Given the description of an element on the screen output the (x, y) to click on. 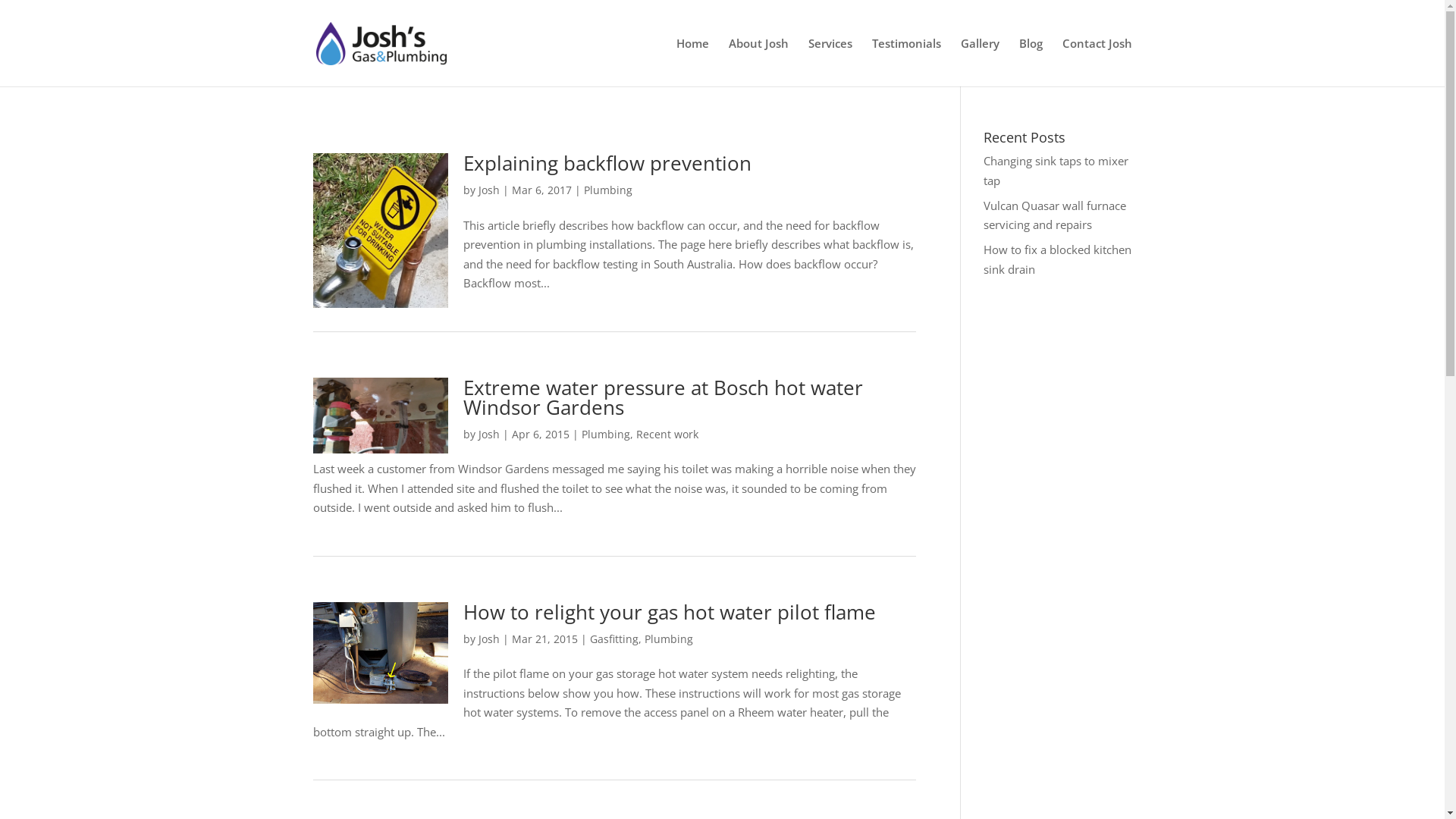
Home Element type: text (692, 61)
Vulcan Quasar wall furnace servicing and repairs Element type: text (1054, 214)
Extreme water pressure at Bosch hot water Windsor Gardens Element type: text (662, 396)
How to fix a blocked kitchen sink drain Element type: text (1057, 258)
Explaining backflow prevention Element type: text (607, 162)
Plumbing Element type: text (607, 189)
Plumbing Element type: text (668, 637)
Services Element type: text (830, 61)
Blog Element type: text (1030, 61)
Changing sink taps to mixer tap Element type: text (1055, 170)
About Josh Element type: text (757, 61)
Josh Element type: text (488, 433)
Recent work Element type: text (667, 433)
Contact Josh Element type: text (1096, 61)
Josh Element type: text (488, 637)
Gasfitting Element type: text (613, 637)
Testimonials Element type: text (906, 61)
Josh Element type: text (488, 189)
Gallery Element type: text (979, 61)
Plumbing Element type: text (605, 433)
How to relight your gas hot water pilot flame Element type: text (669, 610)
